Given the description of an element on the screen output the (x, y) to click on. 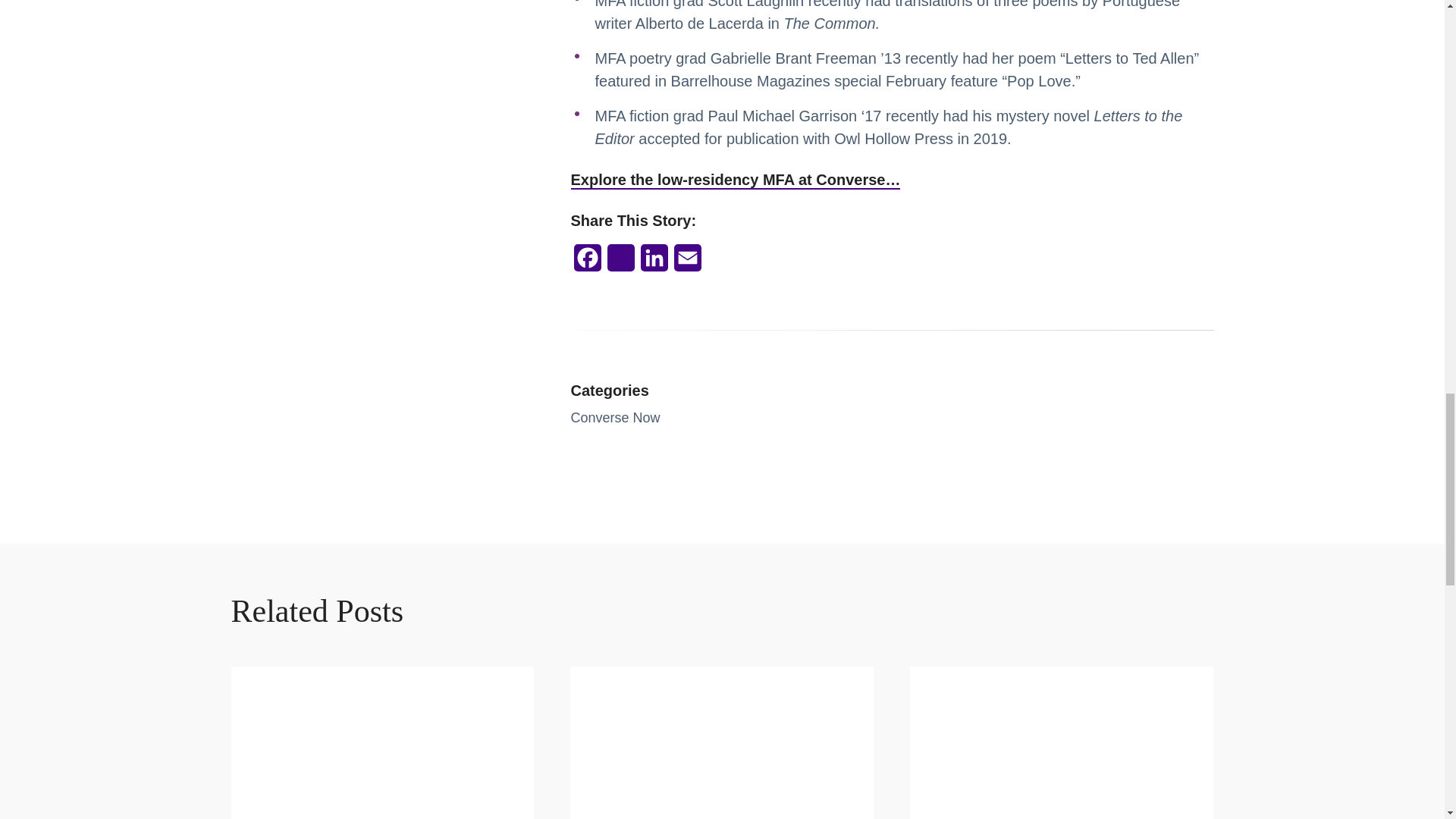
LinkedIn (653, 262)
Twitter (620, 262)
Email (686, 262)
Facebook (587, 262)
